Given the description of an element on the screen output the (x, y) to click on. 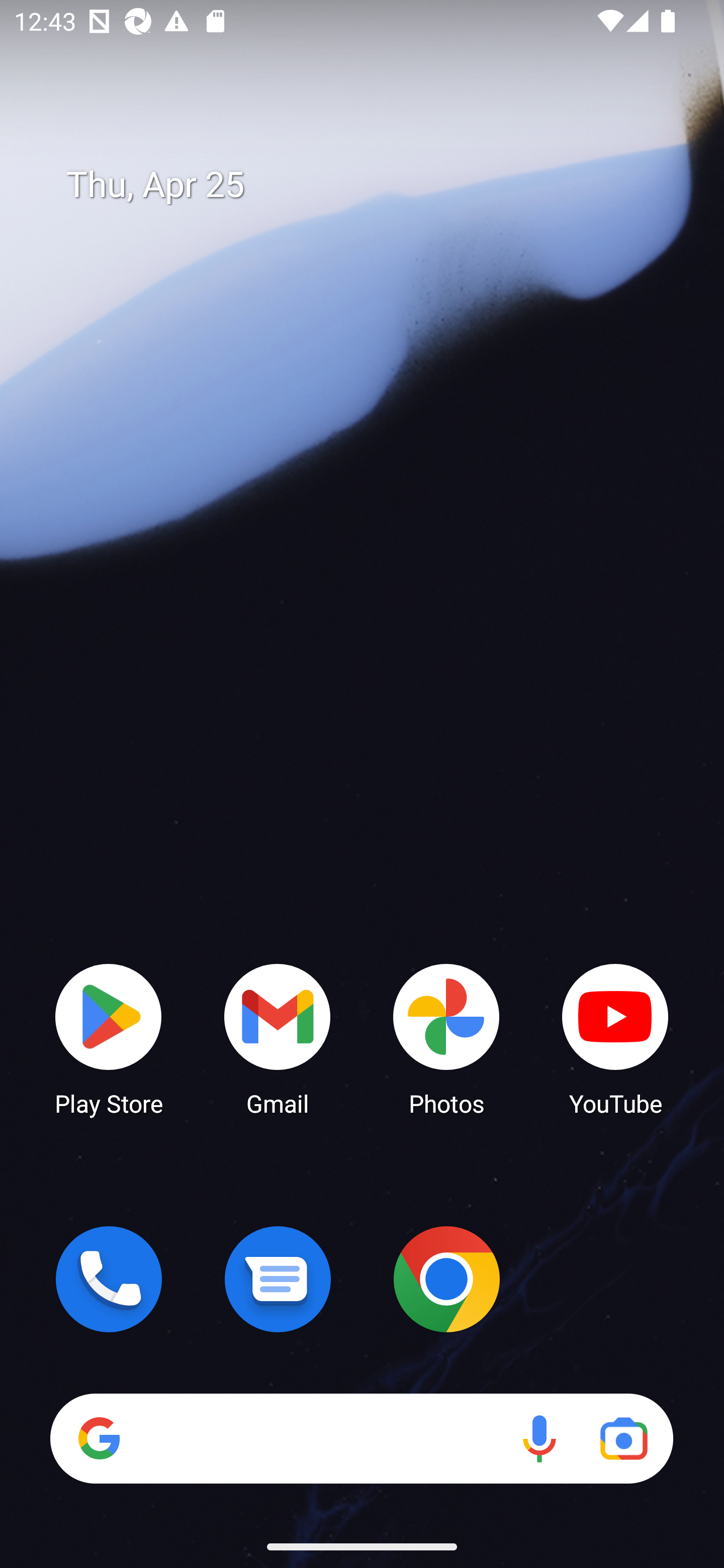
Thu, Apr 25 (375, 184)
Play Store (108, 1038)
Gmail (277, 1038)
Photos (445, 1038)
YouTube (615, 1038)
Phone (108, 1279)
Messages (277, 1279)
Chrome (446, 1279)
Search Voice search Google Lens (361, 1438)
Voice search (539, 1438)
Google Lens (623, 1438)
